Given the description of an element on the screen output the (x, y) to click on. 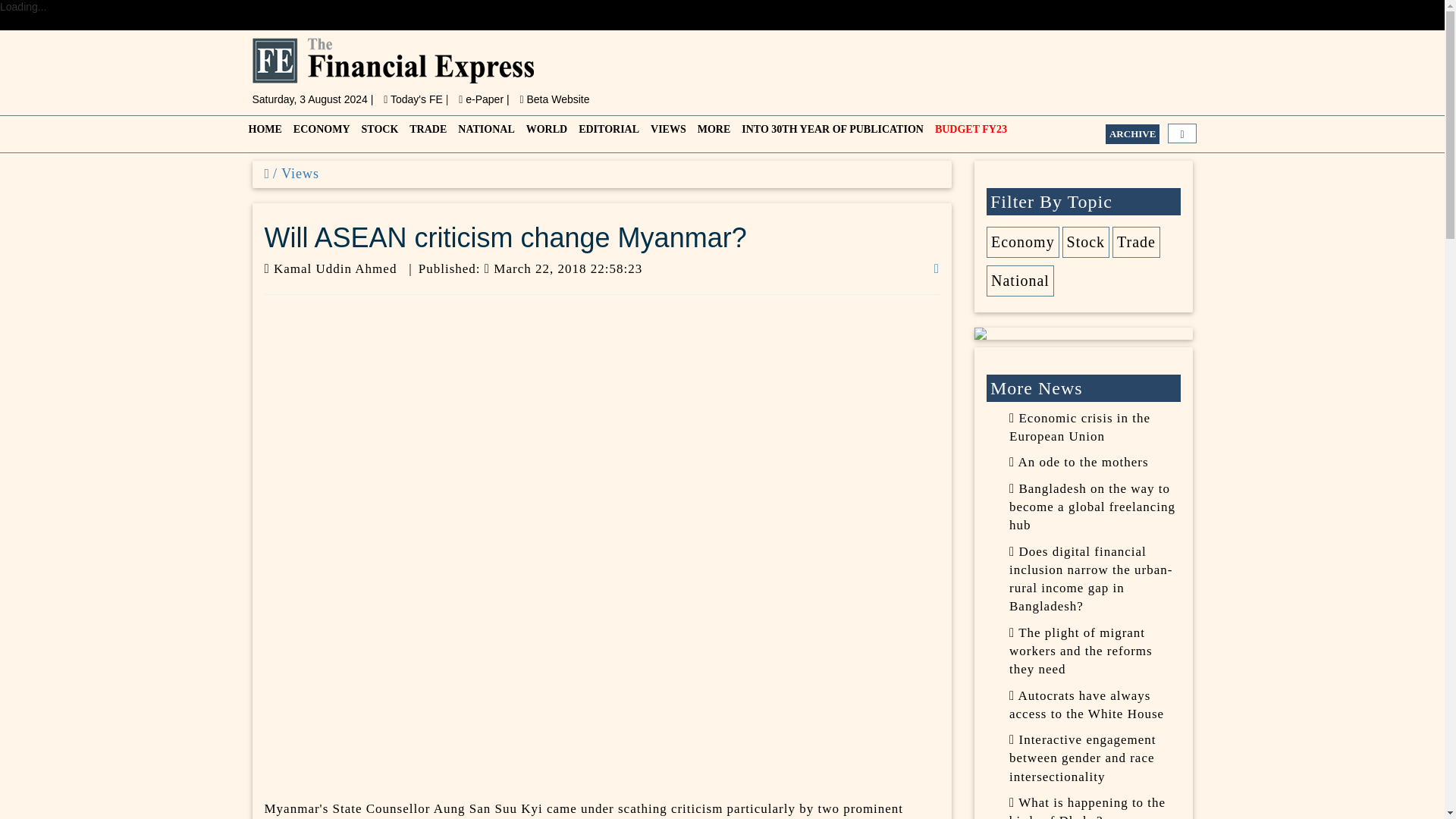
STOCK (378, 134)
Today's FE (414, 99)
ECONOMY (319, 134)
NATIONAL (483, 134)
TRADE (425, 134)
VIEWS (666, 134)
HOME (263, 134)
Beta Website (554, 99)
EDITORIAL (606, 134)
ARCHIVE (1131, 134)
WORLD (544, 134)
MORE (712, 134)
